Given the description of an element on the screen output the (x, y) to click on. 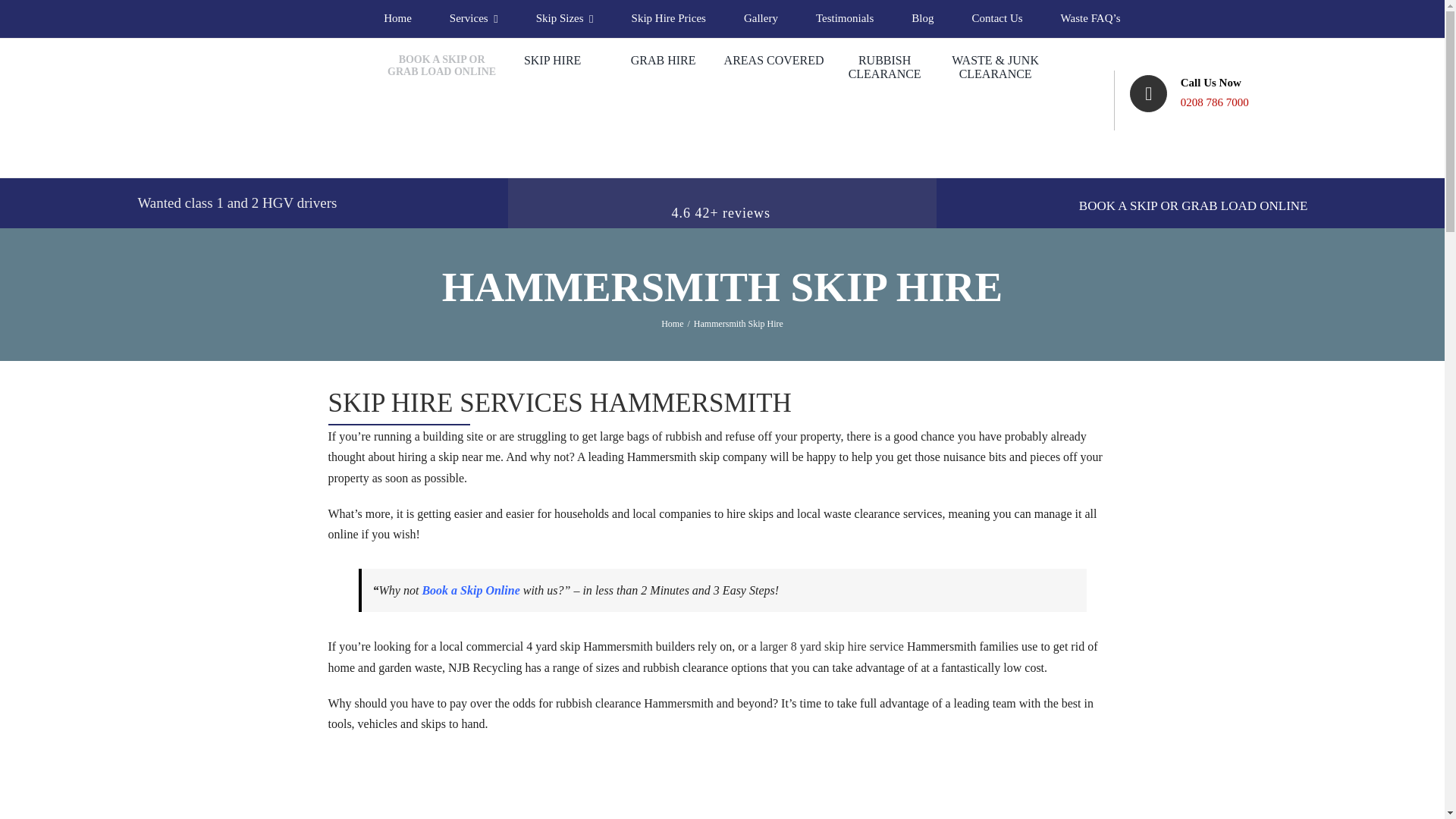
Skip Sizes (564, 18)
feet-1 (722, 754)
24e (995, 754)
Services (473, 18)
NJB-truck-with-man (448, 754)
Skip Hire Prices (668, 18)
Home (397, 18)
